Given the description of an element on the screen output the (x, y) to click on. 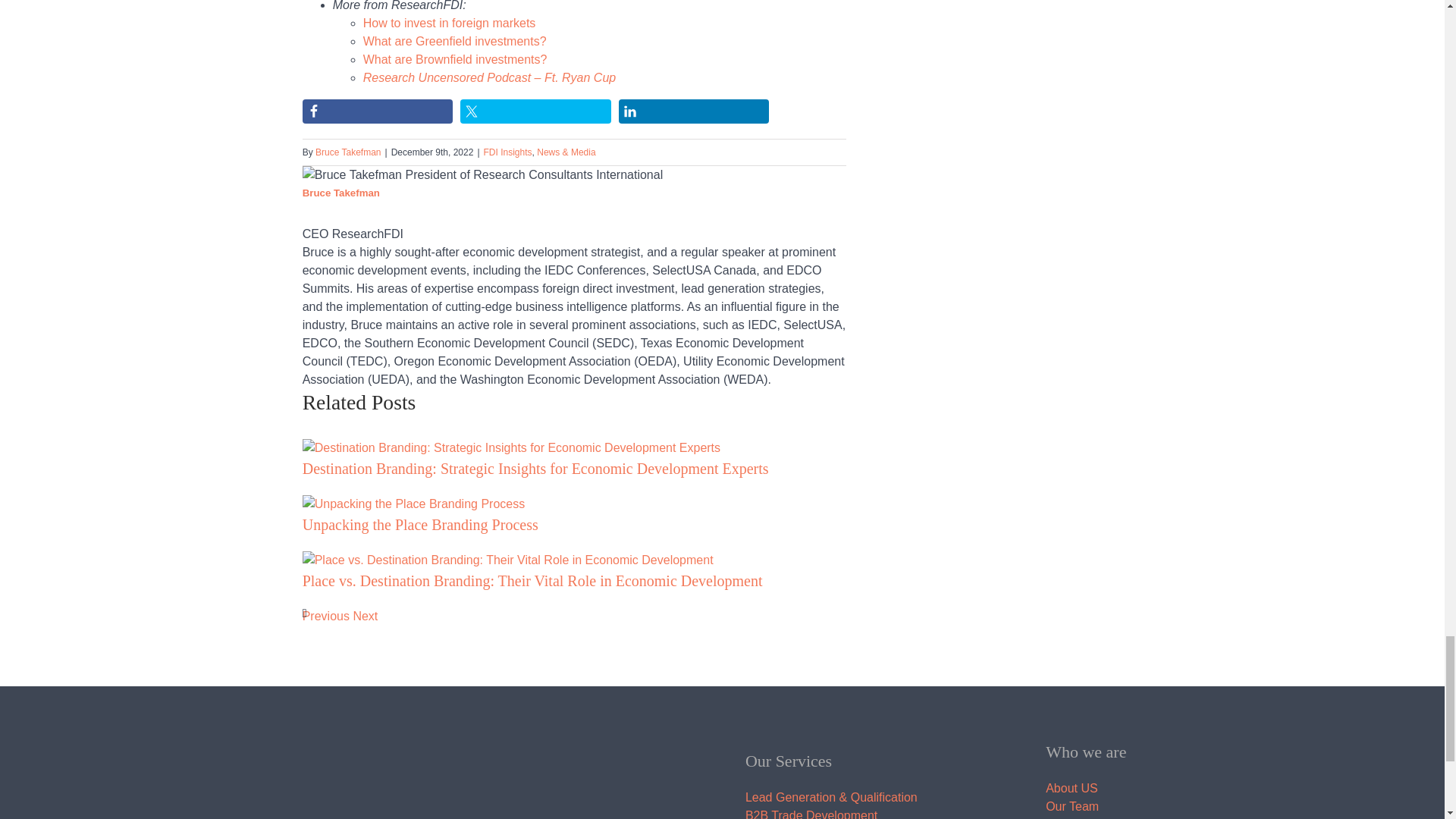
Share on LinkedIn (694, 111)
Share on Facebook (377, 111)
Share on Twitter (535, 111)
Posts by Bruce Takefman (341, 193)
Posts by Bruce Takefman (348, 152)
